Given the description of an element on the screen output the (x, y) to click on. 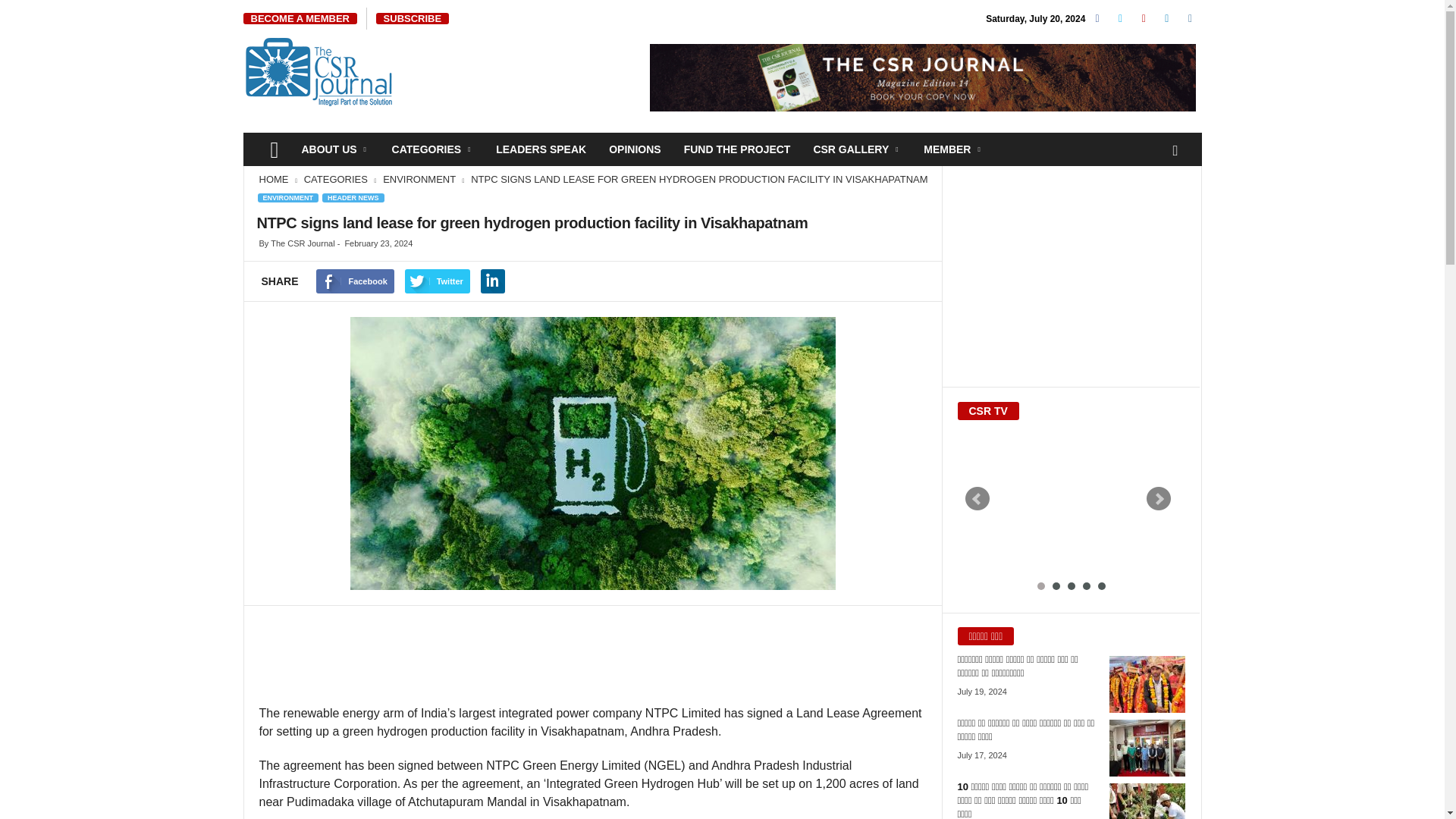
View all posts in Environment (420, 179)
Advertisement (592, 660)
View all posts in CATEGORIES (337, 179)
SUBSCRIBE (412, 18)
BECOME A MEMBER (299, 18)
